Given the description of an element on the screen output the (x, y) to click on. 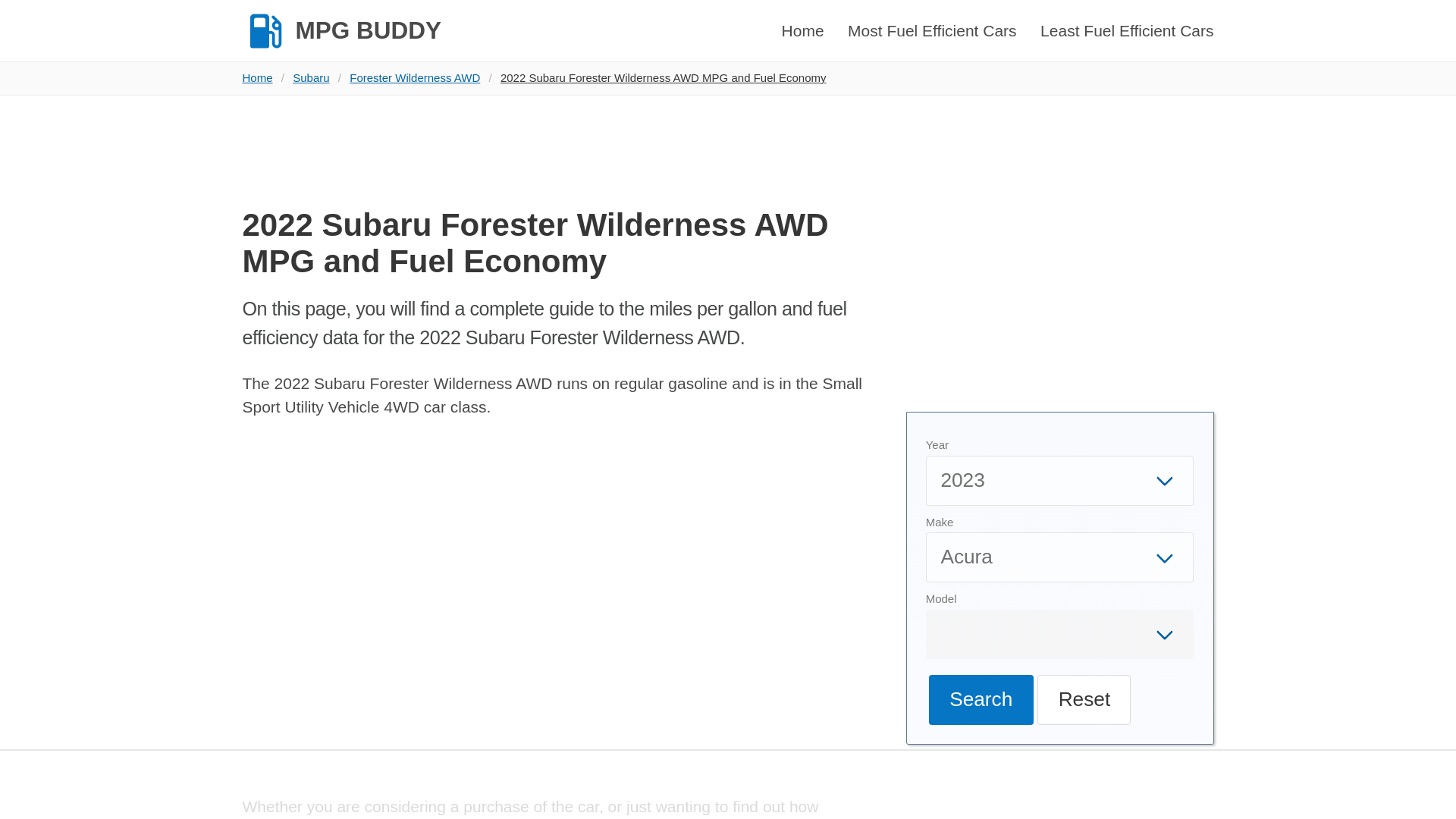
Reset (1083, 699)
Most Fuel Efficient Cars (931, 30)
Search (980, 699)
Home (802, 30)
Home (262, 77)
Subaru (310, 77)
2022 Subaru Forester Wilderness AWD MPG and Fuel Economy (663, 77)
Forester Wilderness AWD (413, 77)
MPG BUDDY (341, 30)
Least Fuel Efficient Cars (1126, 30)
